Given the description of an element on the screen output the (x, y) to click on. 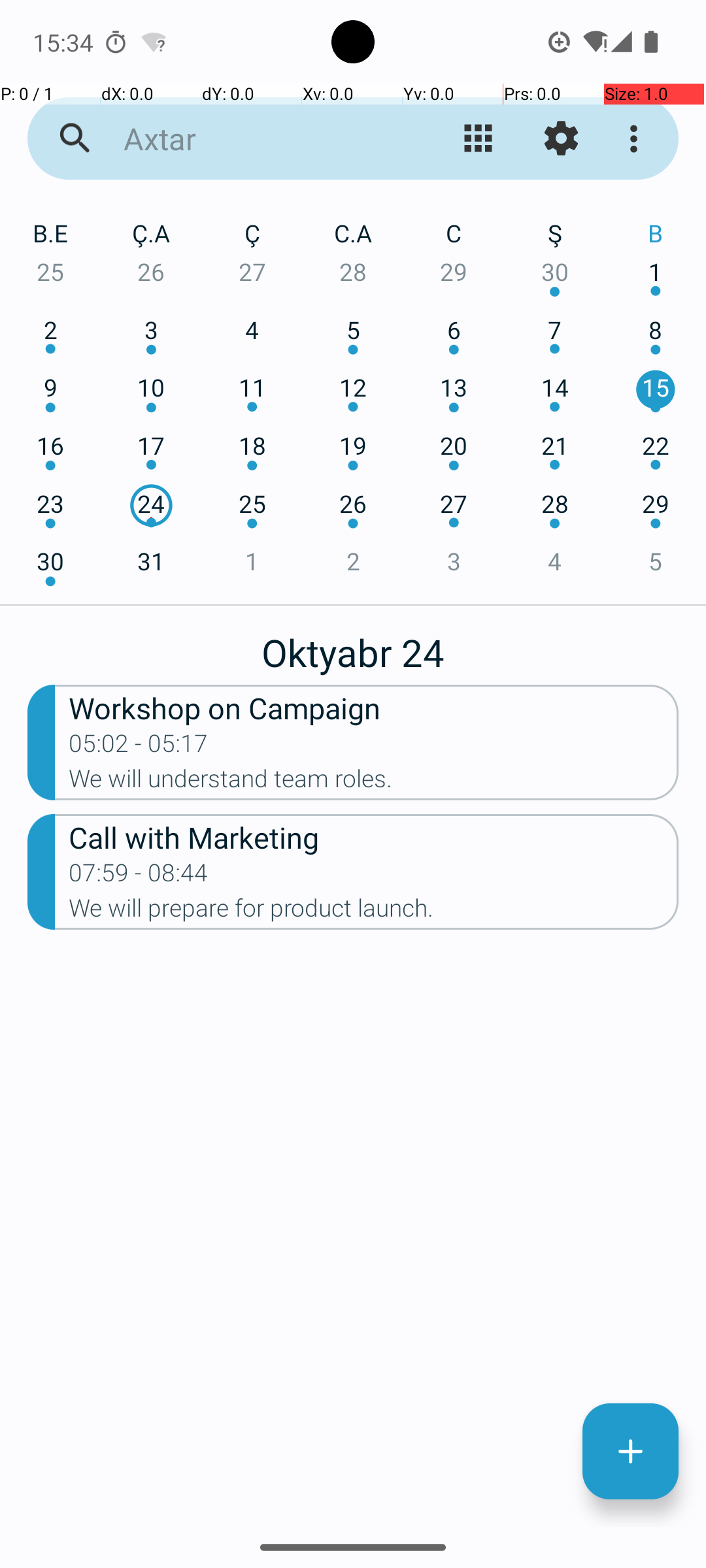
Oktyabr 24 Element type: android.widget.TextView (352, 644)
05:02 - 05:17 Element type: android.widget.TextView (137, 747)
We will understand team roles. Element type: android.widget.TextView (373, 782)
07:59 - 08:44 Element type: android.widget.TextView (137, 876)
We will prepare for product launch. Element type: android.widget.TextView (373, 911)
